Given the description of an element on the screen output the (x, y) to click on. 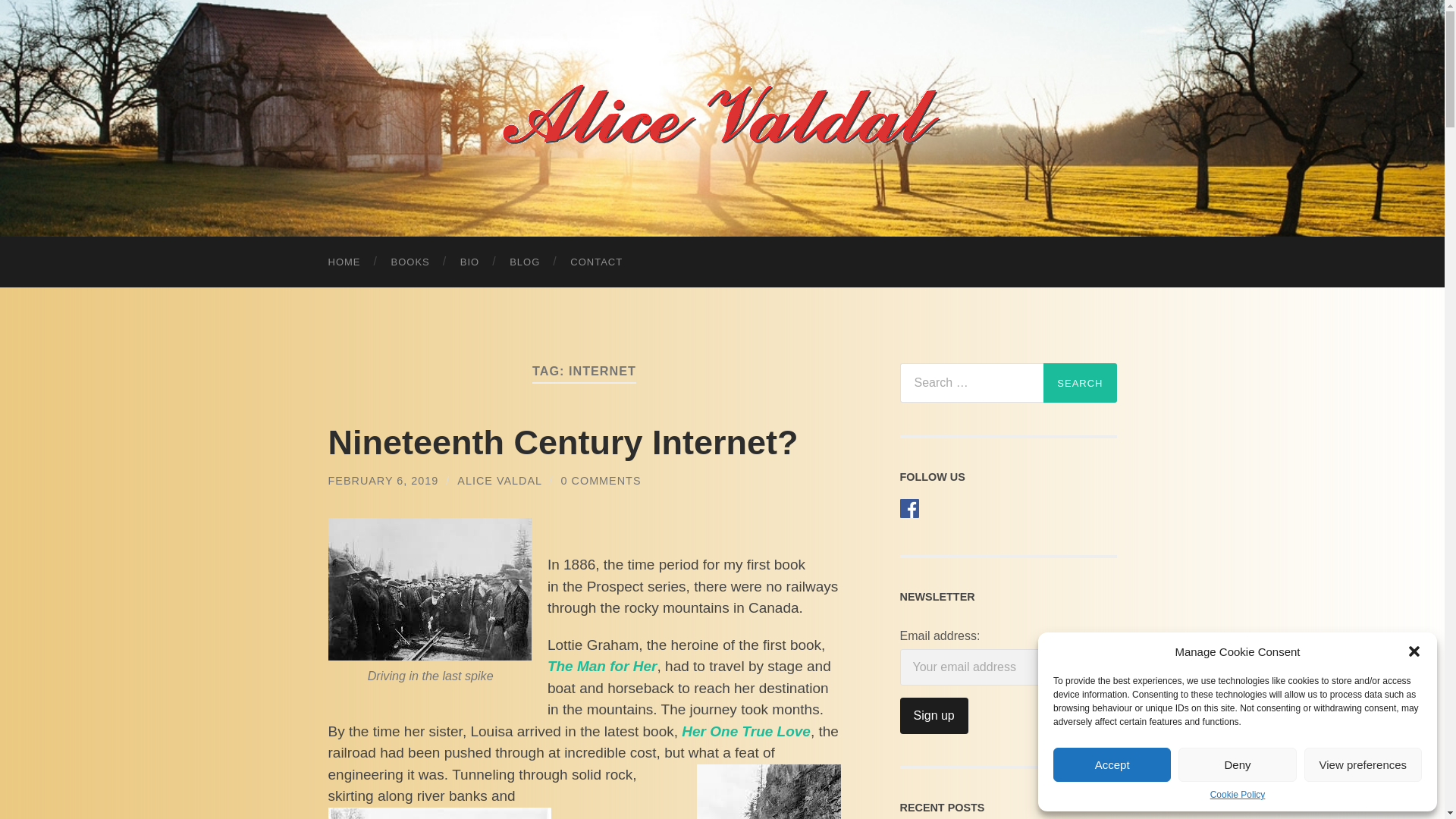
HOME (344, 261)
Search (1079, 382)
FEBRUARY 6, 2019 (382, 480)
Deny (1236, 764)
View preferences (1363, 764)
Sign up (933, 715)
BIO (470, 261)
0 COMMENTS (601, 480)
Search (1079, 382)
BLOG (524, 261)
The Man for Her (602, 666)
CONTACT (595, 261)
Posts by Alice Valdal (499, 480)
BOOKS (410, 261)
Accept (1111, 764)
